Given the description of an element on the screen output the (x, y) to click on. 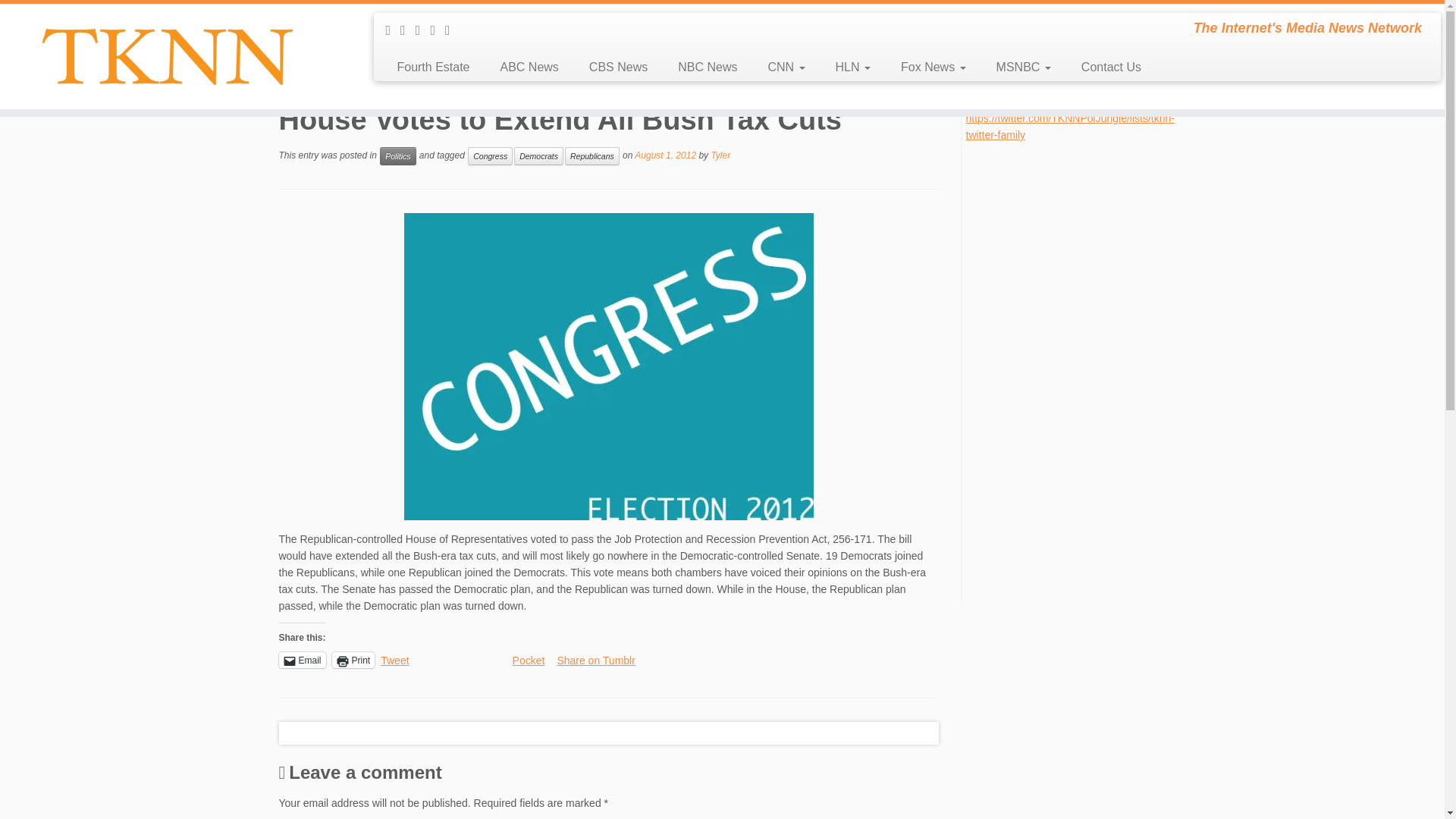
Pocket (528, 660)
Subscribe to my rss feed (392, 29)
Politics (397, 156)
Republicans (592, 156)
NBC News (707, 67)
Contact Us (1103, 67)
Share on Tumblr (595, 658)
Click to email a link to a friend (302, 659)
HLN (853, 67)
E-mail (407, 29)
